Given the description of an element on the screen output the (x, y) to click on. 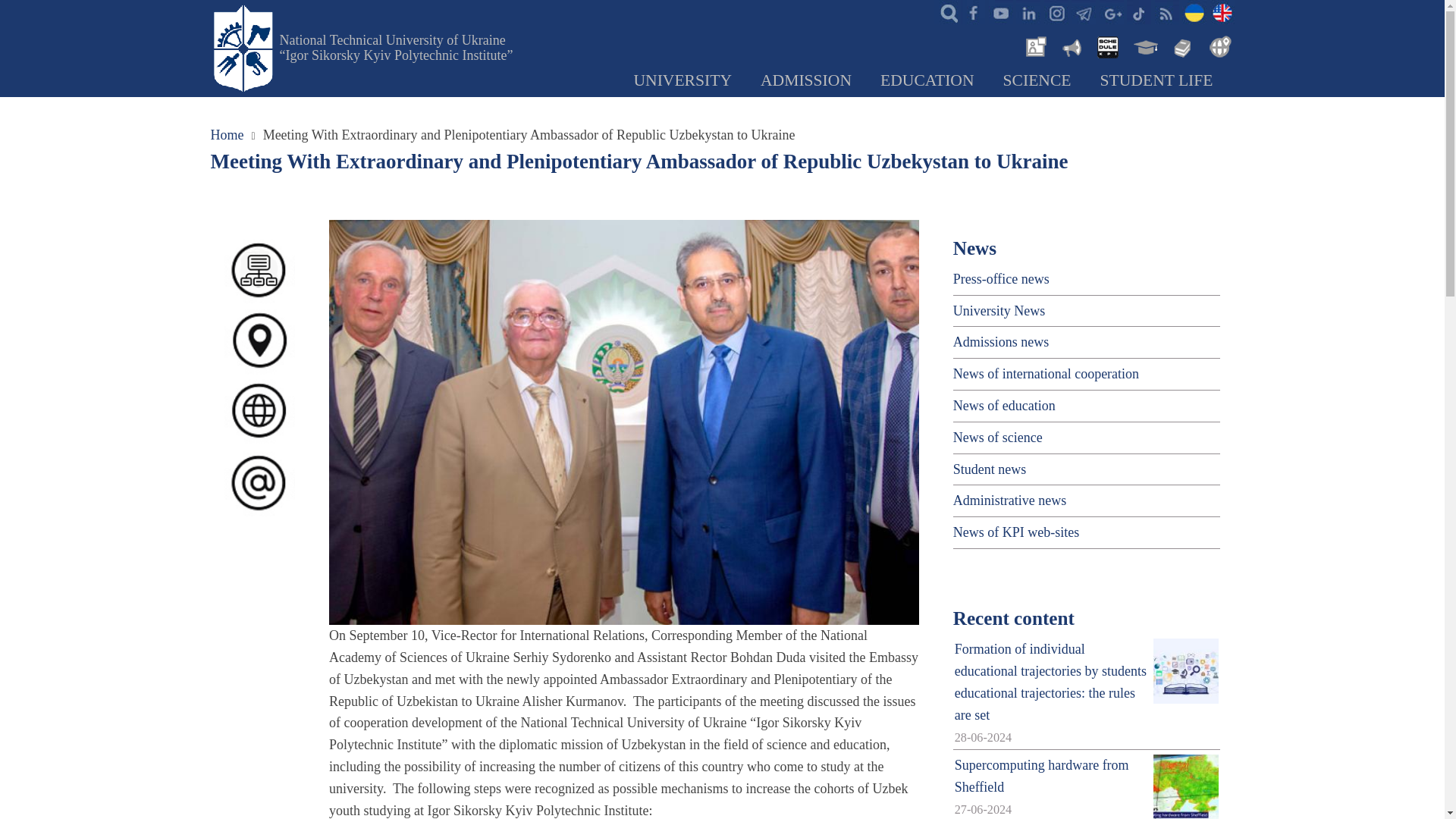
KPI (1221, 12)
UNIVERSITY (682, 81)
For foreign students (1217, 44)
Home (395, 47)
search (944, 12)
